Given the description of an element on the screen output the (x, y) to click on. 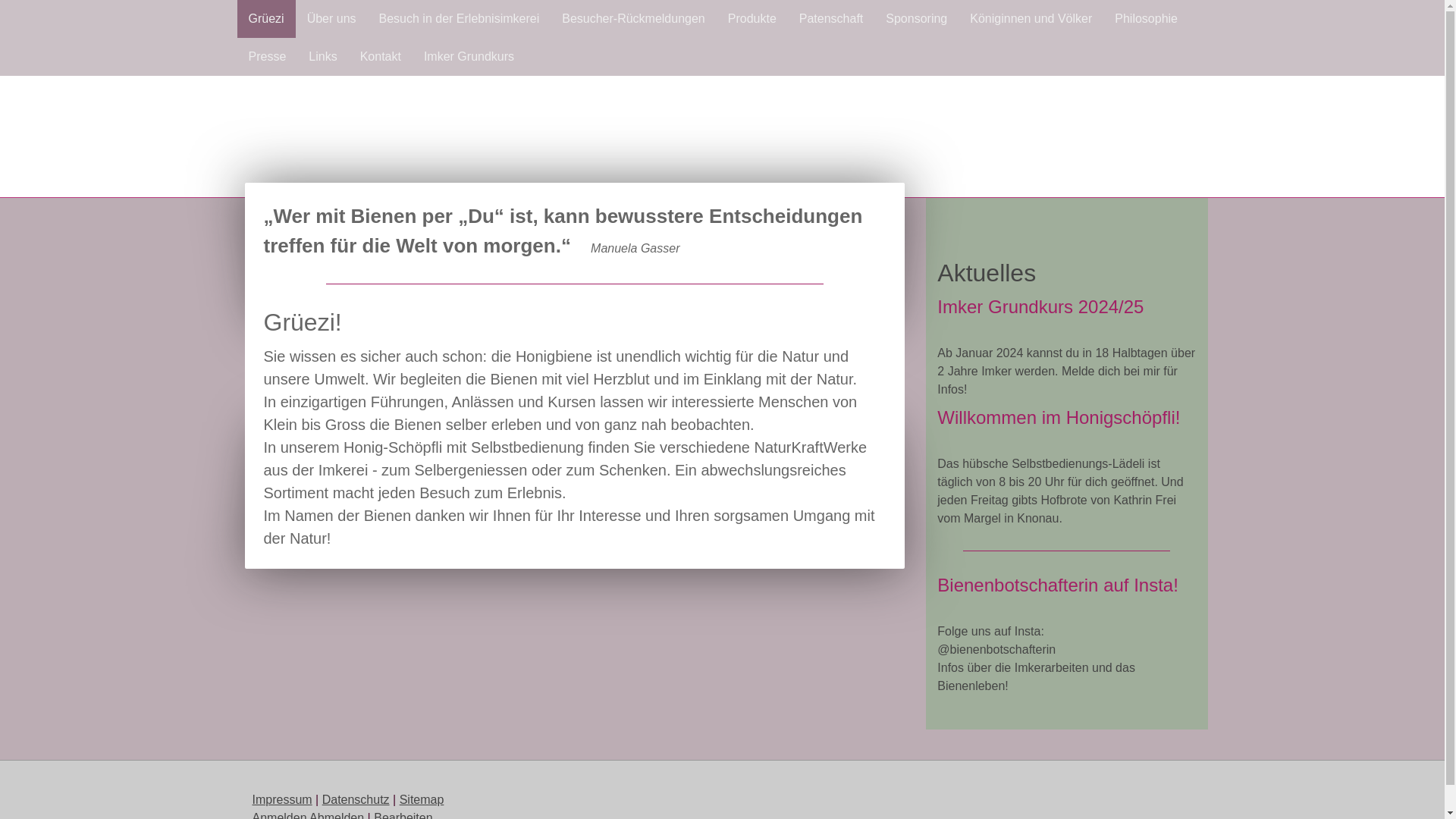
Patenschaft Element type: text (831, 18)
Presse Element type: text (266, 56)
Sponsoring Element type: text (916, 18)
Imker Grundkurs Element type: text (468, 56)
Sitemap Element type: text (421, 799)
Besuch in der Erlebnisimkerei Element type: text (459, 18)
Philosophie Element type: text (1146, 18)
Links Element type: text (322, 56)
Produkte Element type: text (751, 18)
Datenschutz Element type: text (355, 799)
Impressum Element type: text (281, 799)
Kontakt Element type: text (380, 56)
